Given the description of an element on the screen output the (x, y) to click on. 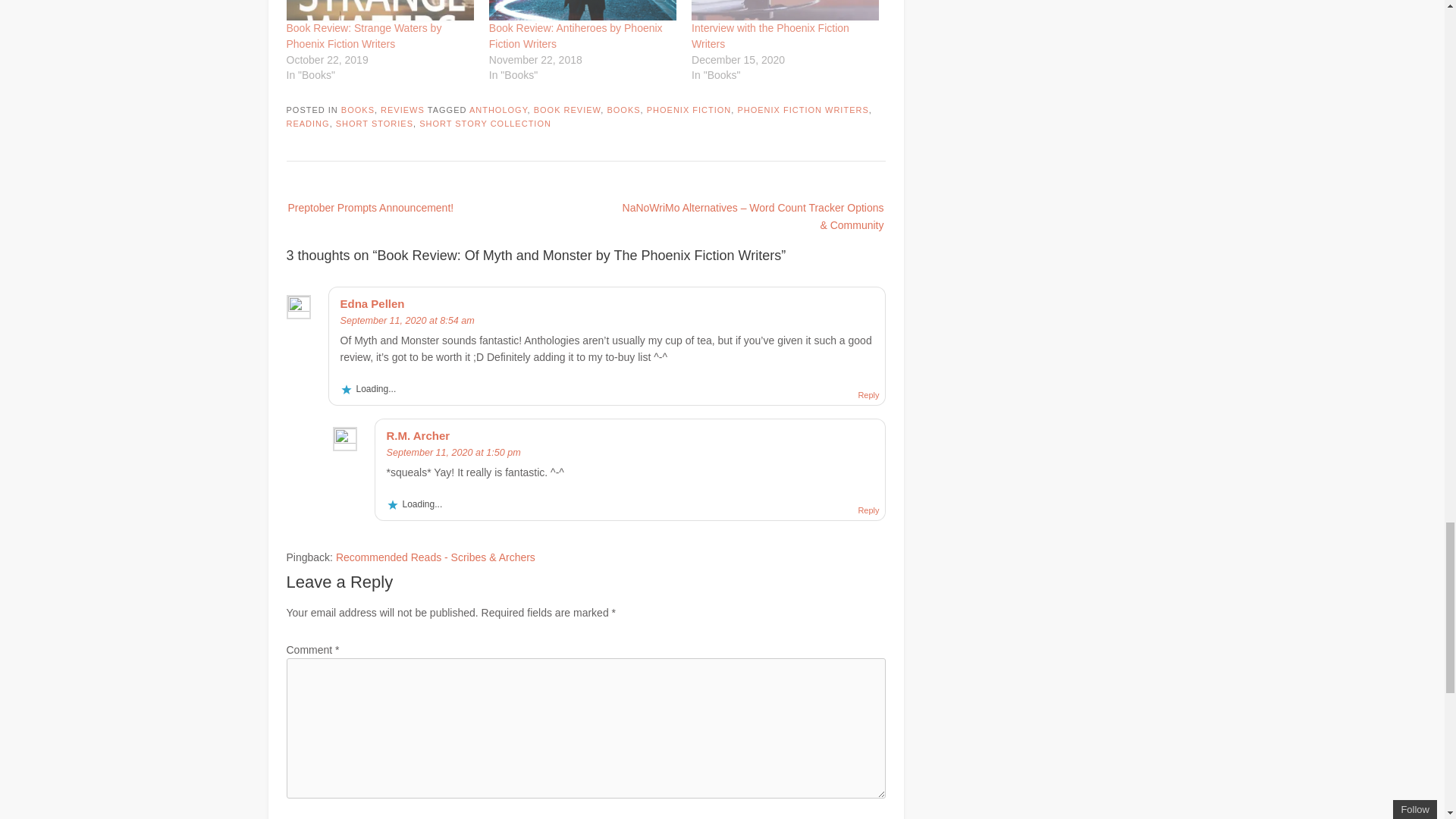
Interview with the Phoenix Fiction Writers (785, 10)
Book Review: Antiheroes by Phoenix Fiction Writers (575, 35)
Book Review: Strange Waters by Phoenix Fiction Writers (364, 35)
Interview with the Phoenix Fiction Writers (769, 35)
Book Review: Antiheroes by Phoenix Fiction Writers (583, 10)
Book Review: Strange Waters by Phoenix Fiction Writers (380, 10)
